Given the description of an element on the screen output the (x, y) to click on. 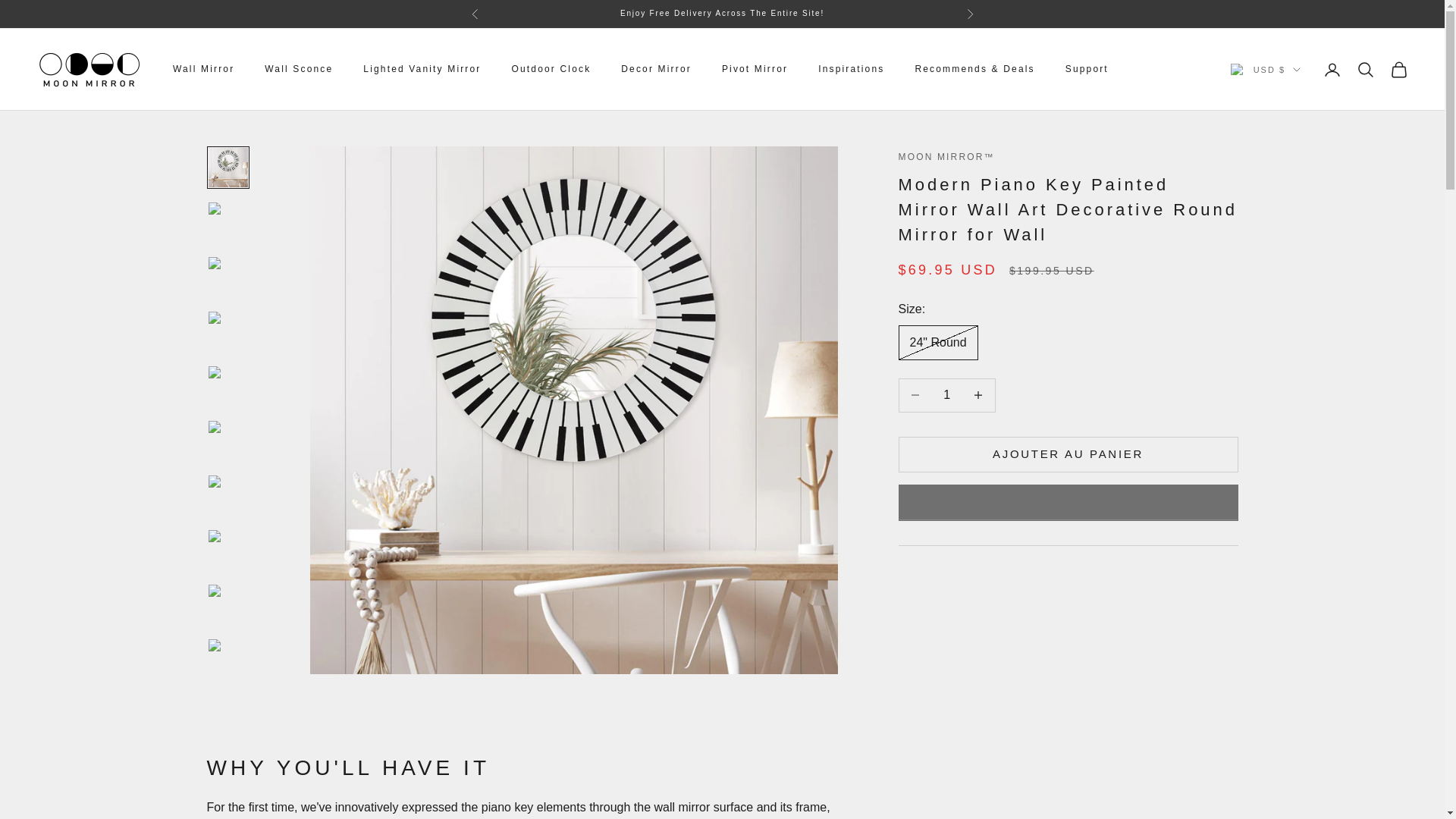
1 (946, 395)
Moon Mirror (89, 68)
